Given the description of an element on the screen output the (x, y) to click on. 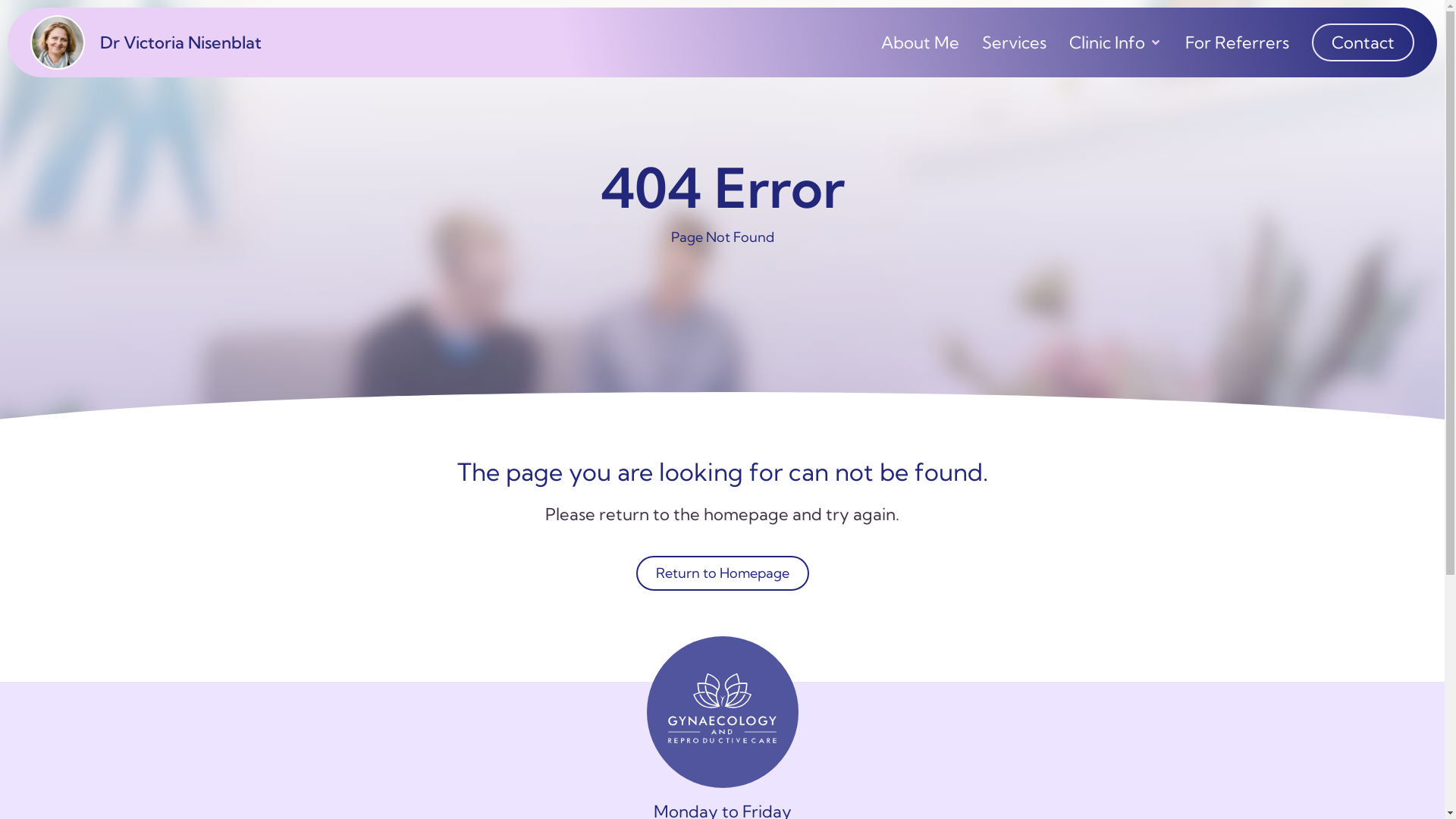
Services Element type: text (1014, 42)
Clinic Info Element type: text (1107, 42)
About Me Element type: text (920, 42)
Contact Element type: text (1362, 42)
For Referrers Element type: text (1237, 42)
Dr Victoria Nisenblat Element type: text (226, 42)
Return to Homepage Element type: text (721, 572)
